Given the description of an element on the screen output the (x, y) to click on. 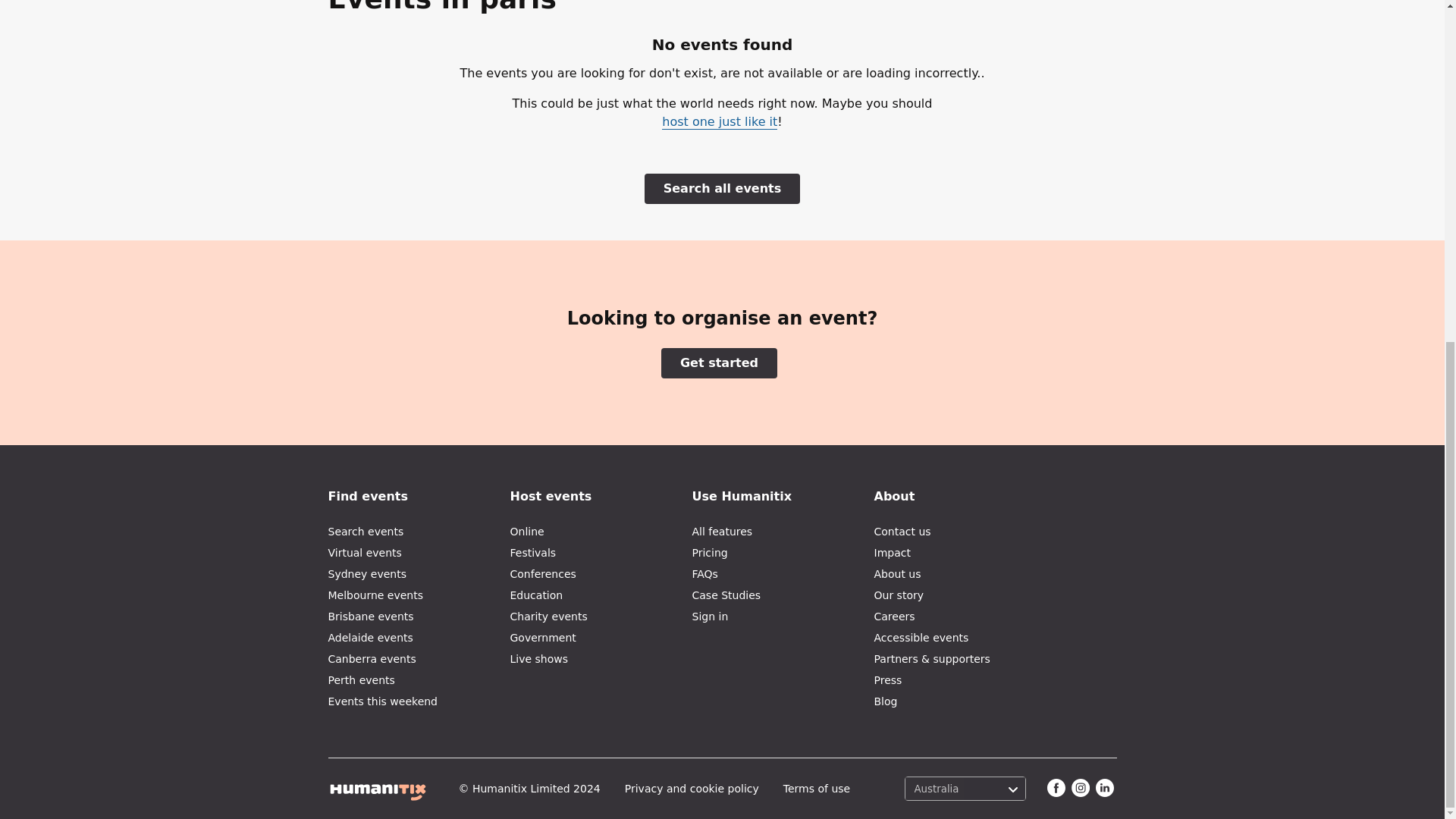
Careers (964, 619)
Live shows (600, 661)
Online (600, 534)
Canberra events (418, 661)
Get started (719, 363)
Government (600, 640)
Perth events (418, 682)
Accessible events (964, 640)
All features (782, 534)
Our story (964, 598)
